Given the description of an element on the screen output the (x, y) to click on. 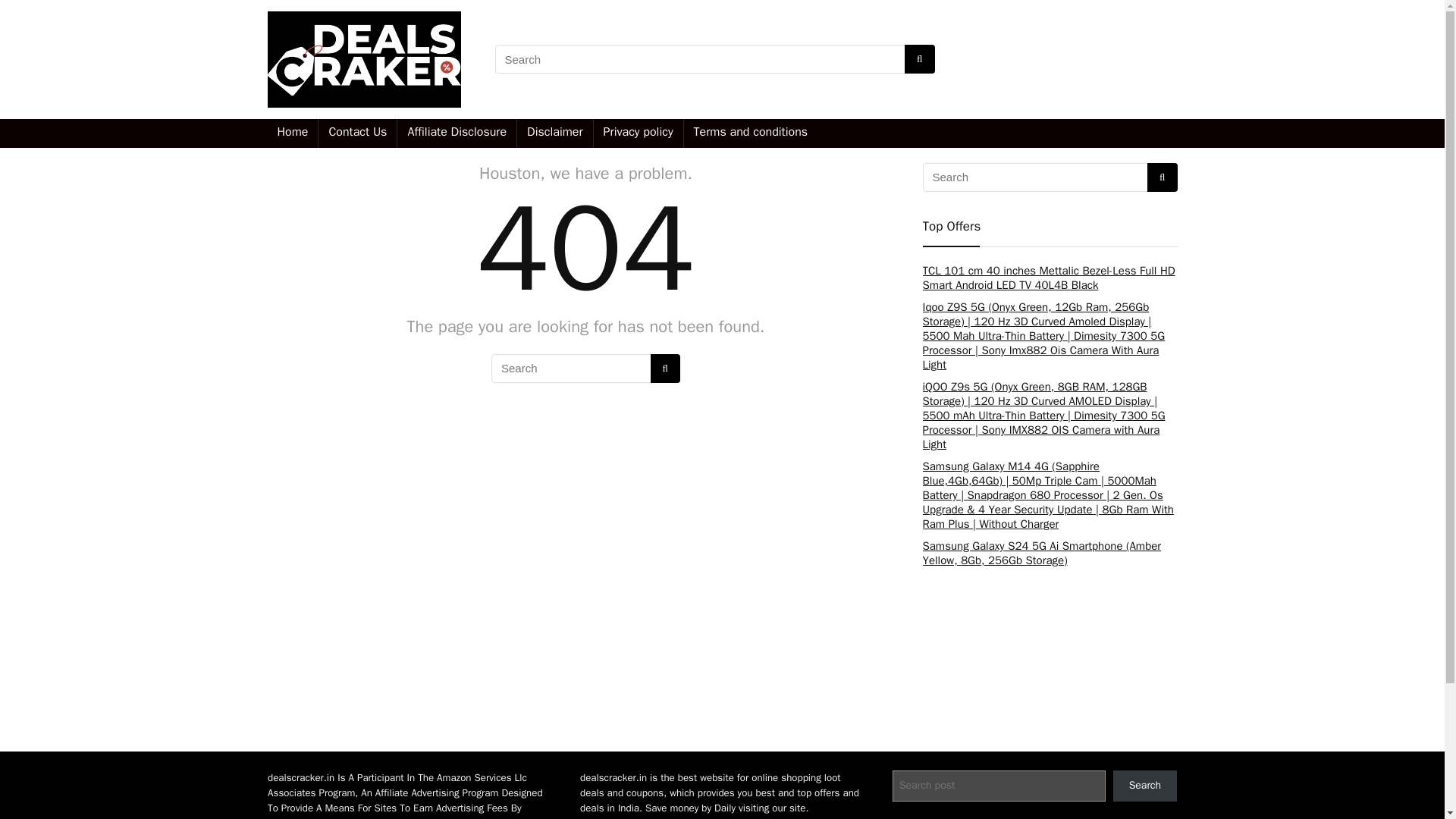
Privacy policy (638, 133)
Contact Us (357, 133)
Search (1144, 785)
Affiliate Disclosure (456, 133)
Disclaimer (554, 133)
Home (291, 133)
Terms and conditions (751, 133)
